Given the description of an element on the screen output the (x, y) to click on. 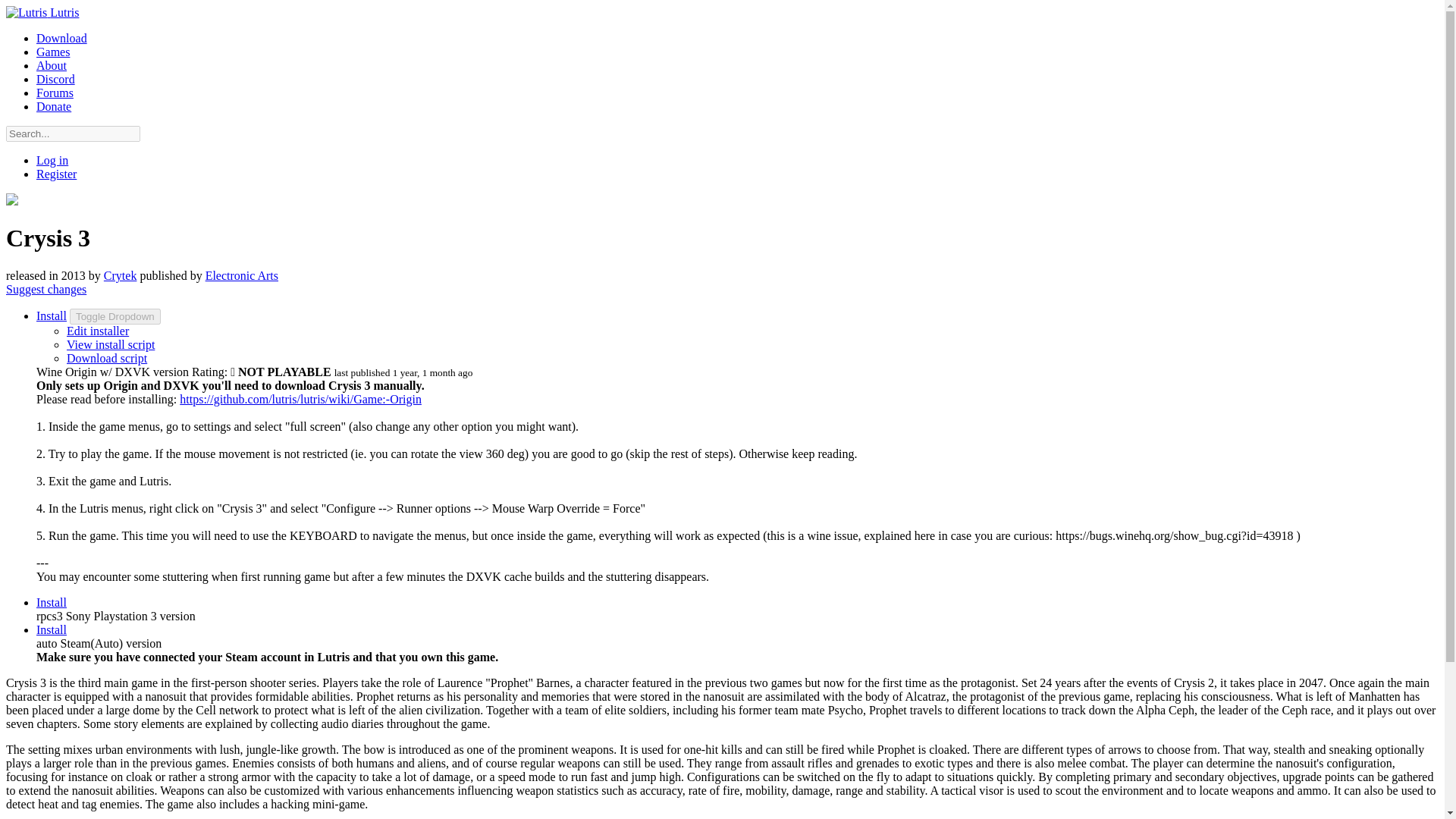
View install script (110, 344)
Crytek (119, 275)
Games (52, 51)
Electronic Arts (241, 275)
Forums (55, 92)
Suggest changes (45, 288)
About (51, 65)
Lutris (41, 11)
Download script (106, 358)
Install (51, 629)
Download (61, 38)
Discord (55, 78)
Toggle Dropdown (114, 316)
Register (56, 173)
Install (51, 602)
